Given the description of an element on the screen output the (x, y) to click on. 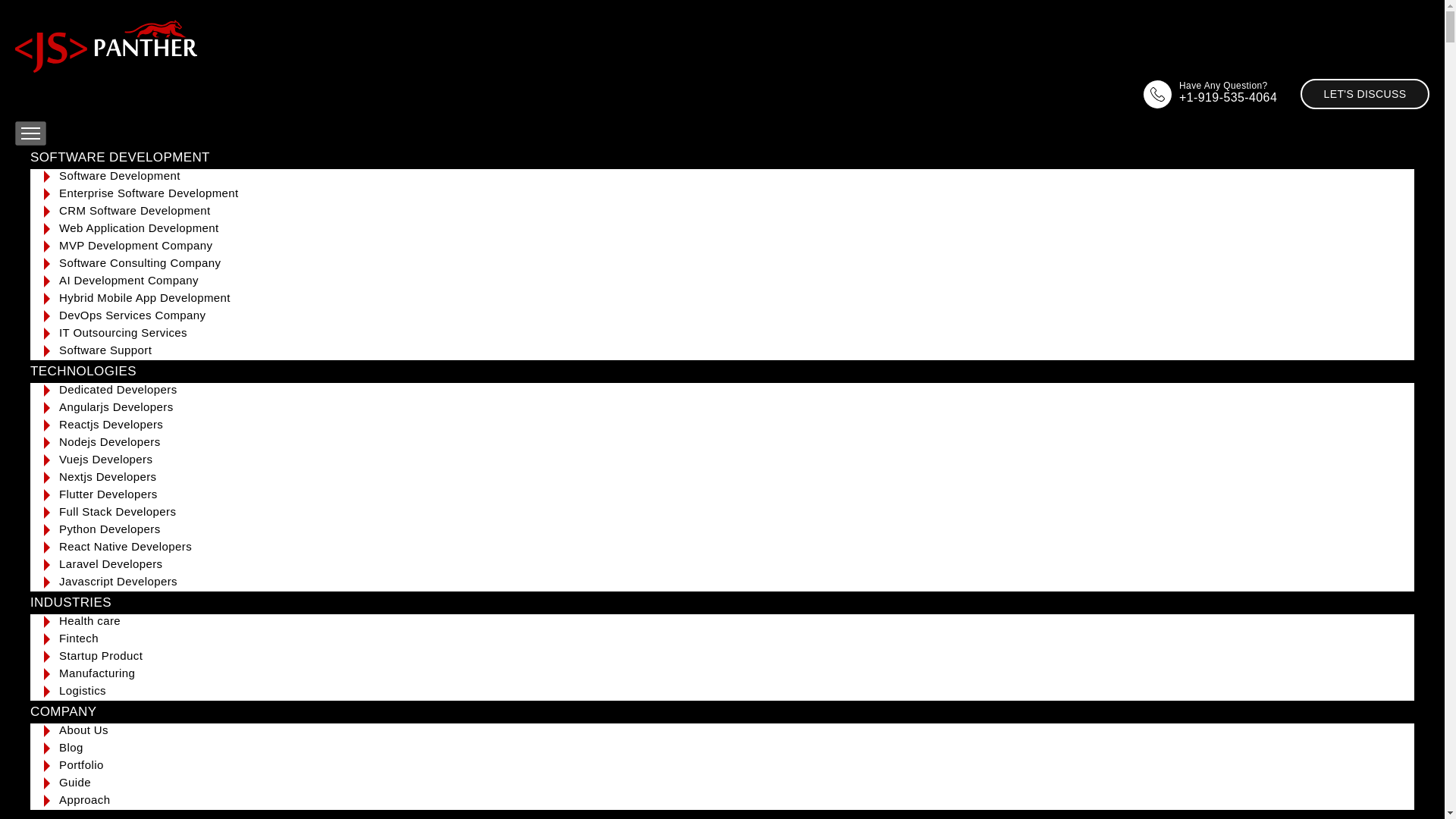
Ai Development Company (128, 279)
COMPANY (63, 711)
Nextjs Developers (108, 476)
CRM Software Development (135, 210)
Laravel Developers (110, 563)
Dedicated Developers (118, 389)
IT Outsourcing Services (123, 332)
Hamburger Menu (30, 133)
Nextjs Developers (108, 476)
Enterprise Software Development (148, 192)
Javascript Developers (118, 581)
Startup Product (100, 655)
Fintech (79, 637)
Manufacturing (97, 672)
Web Application Development (139, 227)
